Given the description of an element on the screen output the (x, y) to click on. 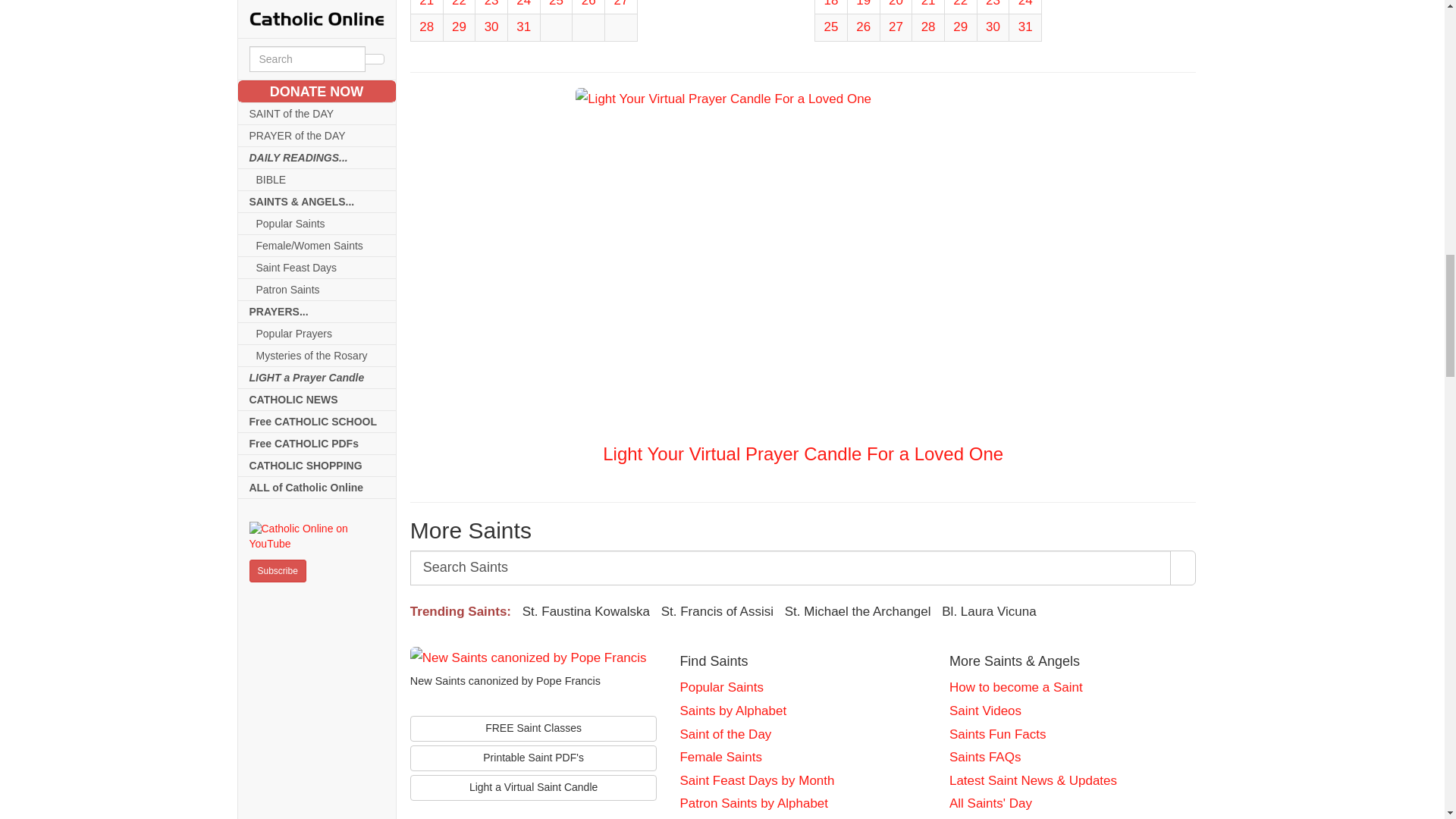
Search Saints (791, 567)
